Given the description of an element on the screen output the (x, y) to click on. 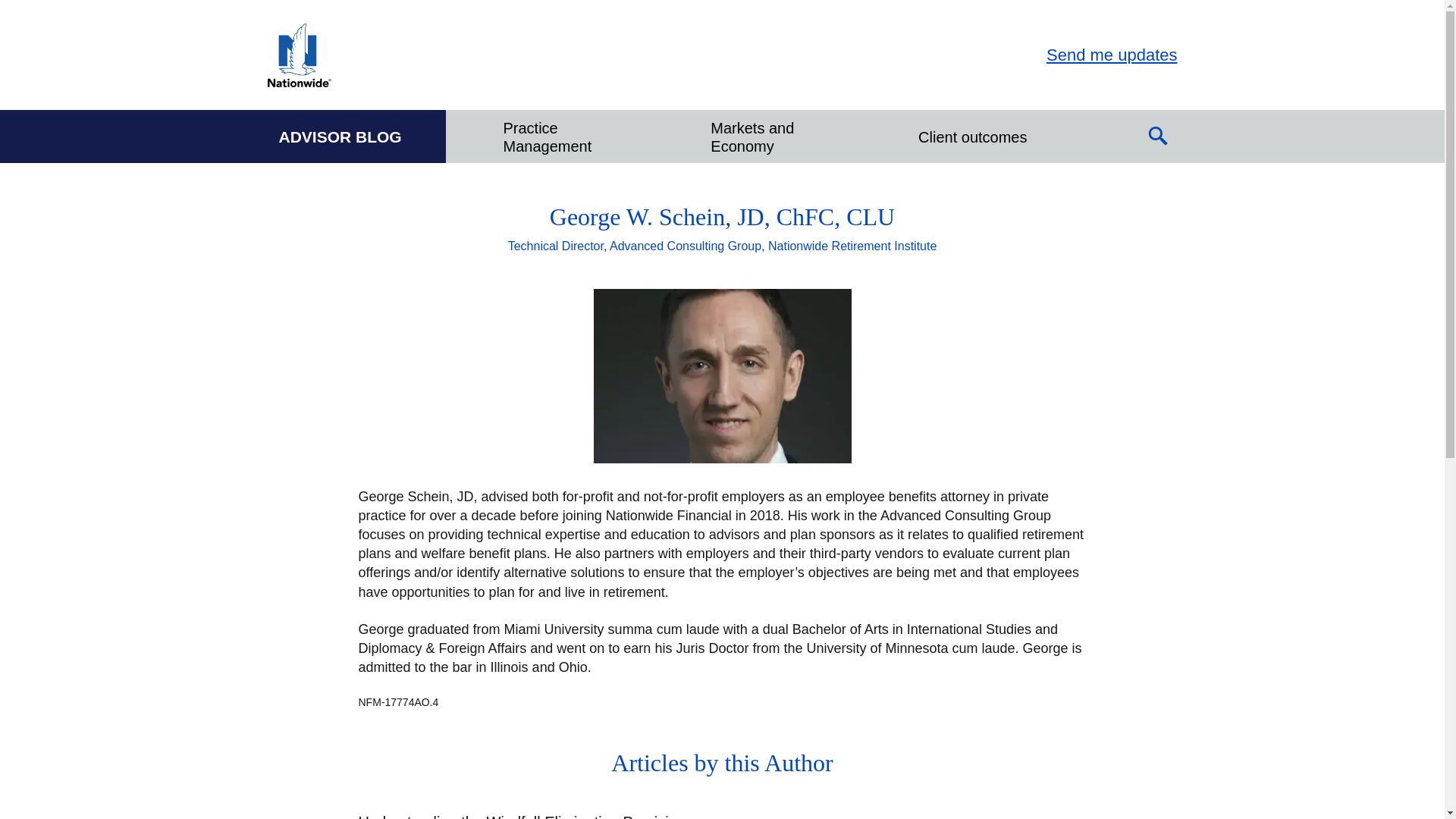
Open search drawer. (1157, 135)
Practice Management (559, 135)
Markets and Economy (766, 135)
Client outcomes (972, 135)
ADVISOR BLOG (340, 135)
Understanding the Windfall Elimination Provision (527, 816)
Send me updates (1111, 54)
